Given the description of an element on the screen output the (x, y) to click on. 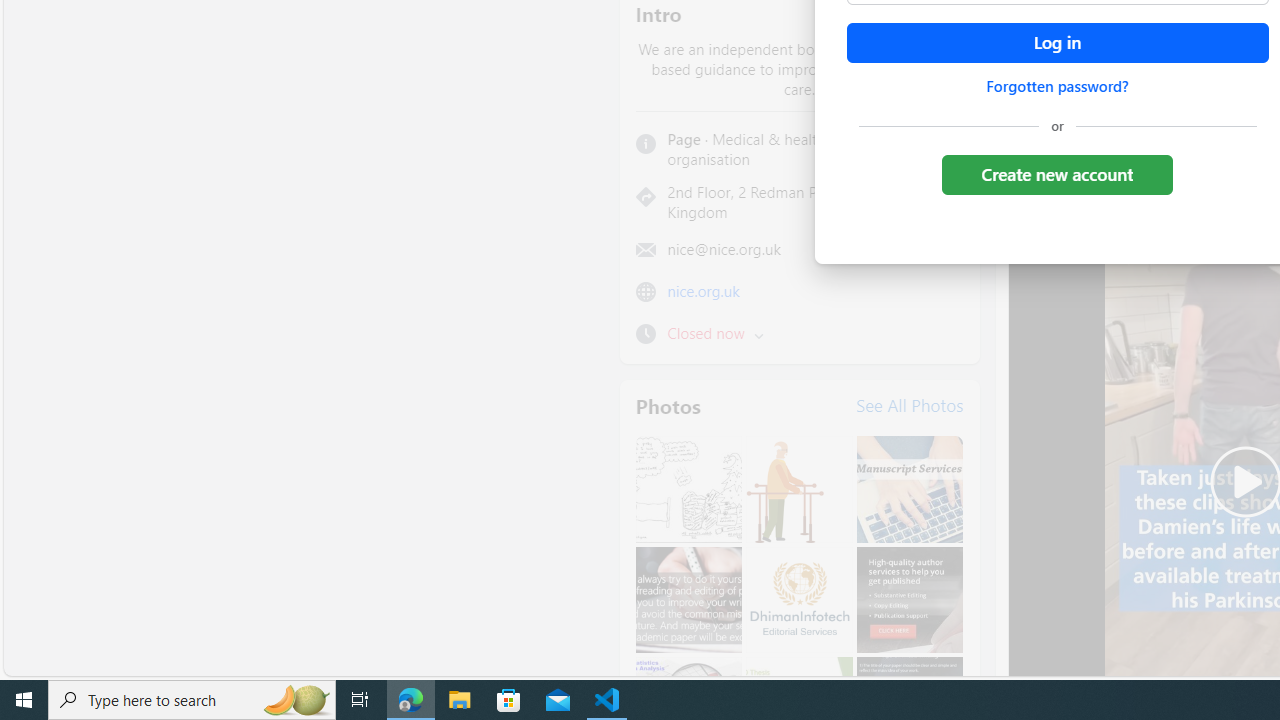
Forgotten password? (1057, 85)
Create new account (1056, 174)
Accessible login button (1057, 43)
